Given the description of an element on the screen output the (x, y) to click on. 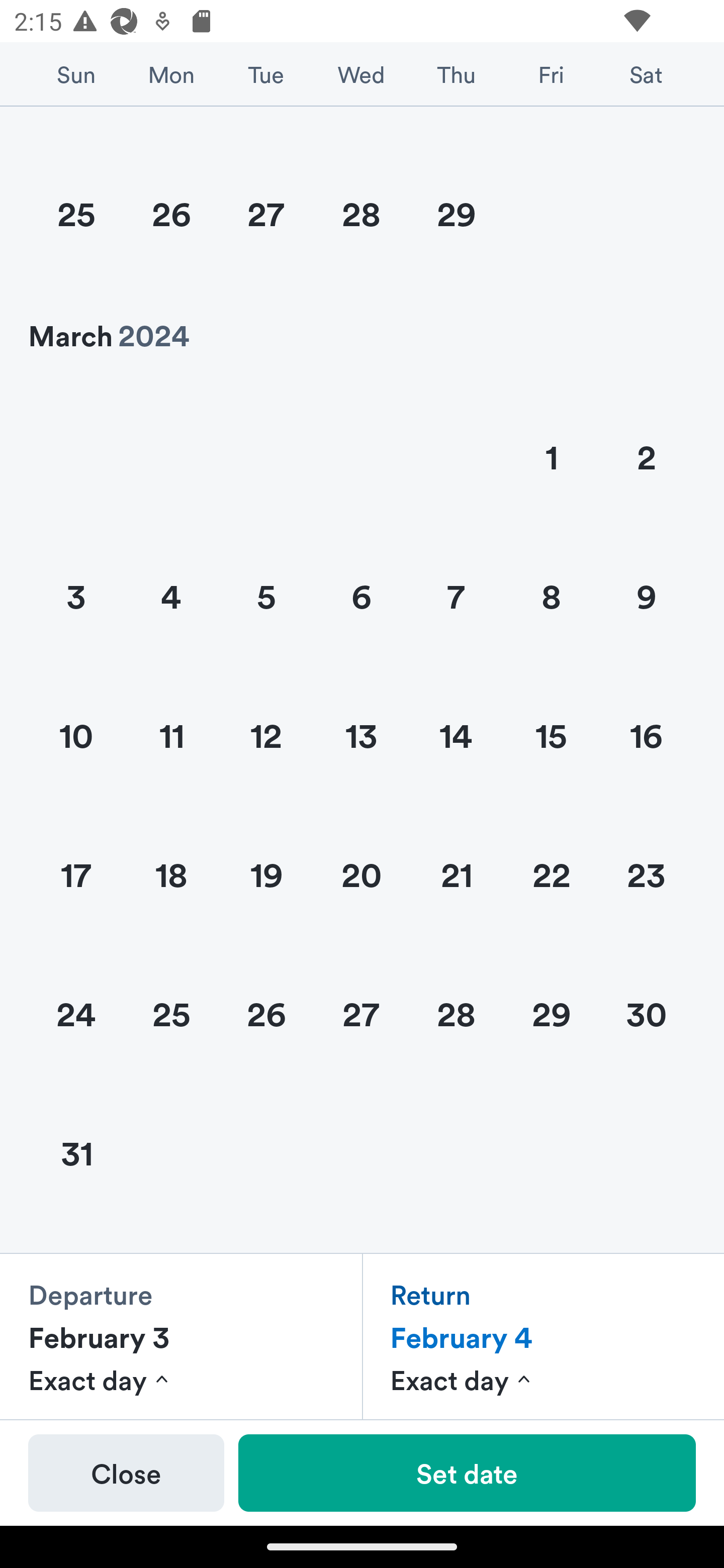
Close (126, 1472)
Set date (466, 1472)
